Given the description of an element on the screen output the (x, y) to click on. 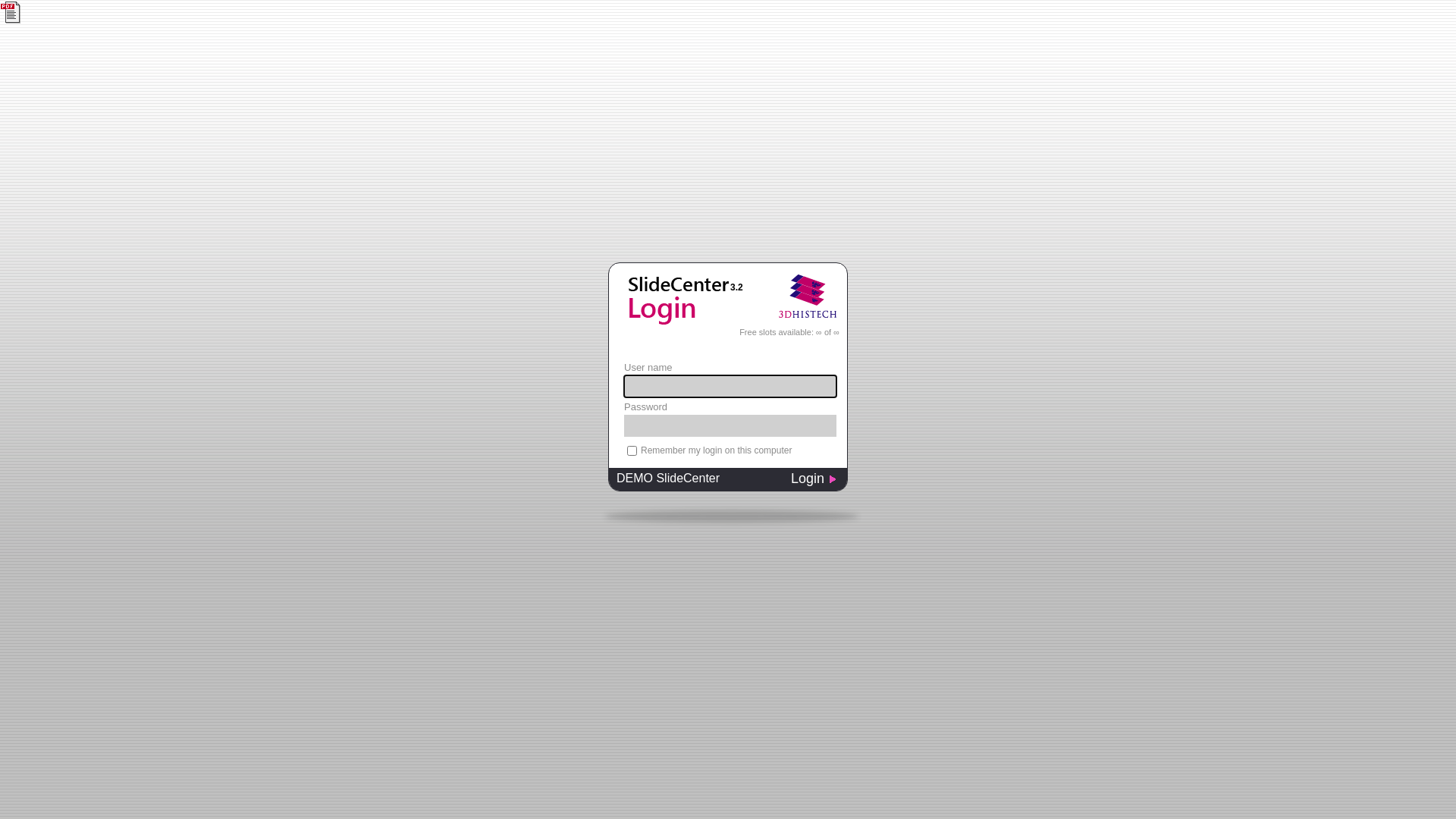
Download User's Guide Element type: hover (12, 12)
DEMO SlideCenter Element type: text (693, 480)
Login Element type: text (818, 480)
